Given the description of an element on the screen output the (x, y) to click on. 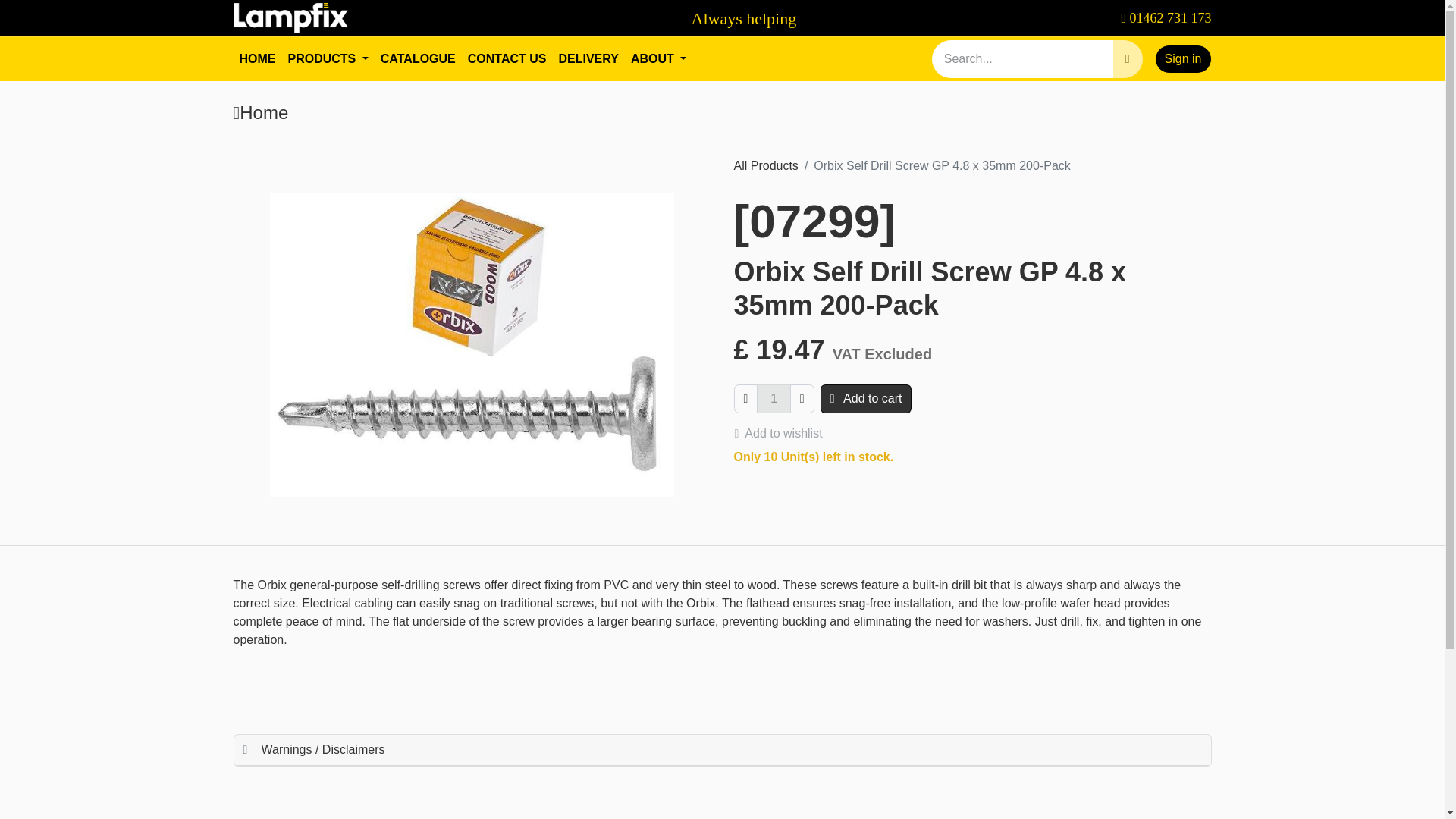
HOME (257, 59)
PRODUCTS (328, 59)
Lampfix (290, 18)
1 (722, 18)
